Given the description of an element on the screen output the (x, y) to click on. 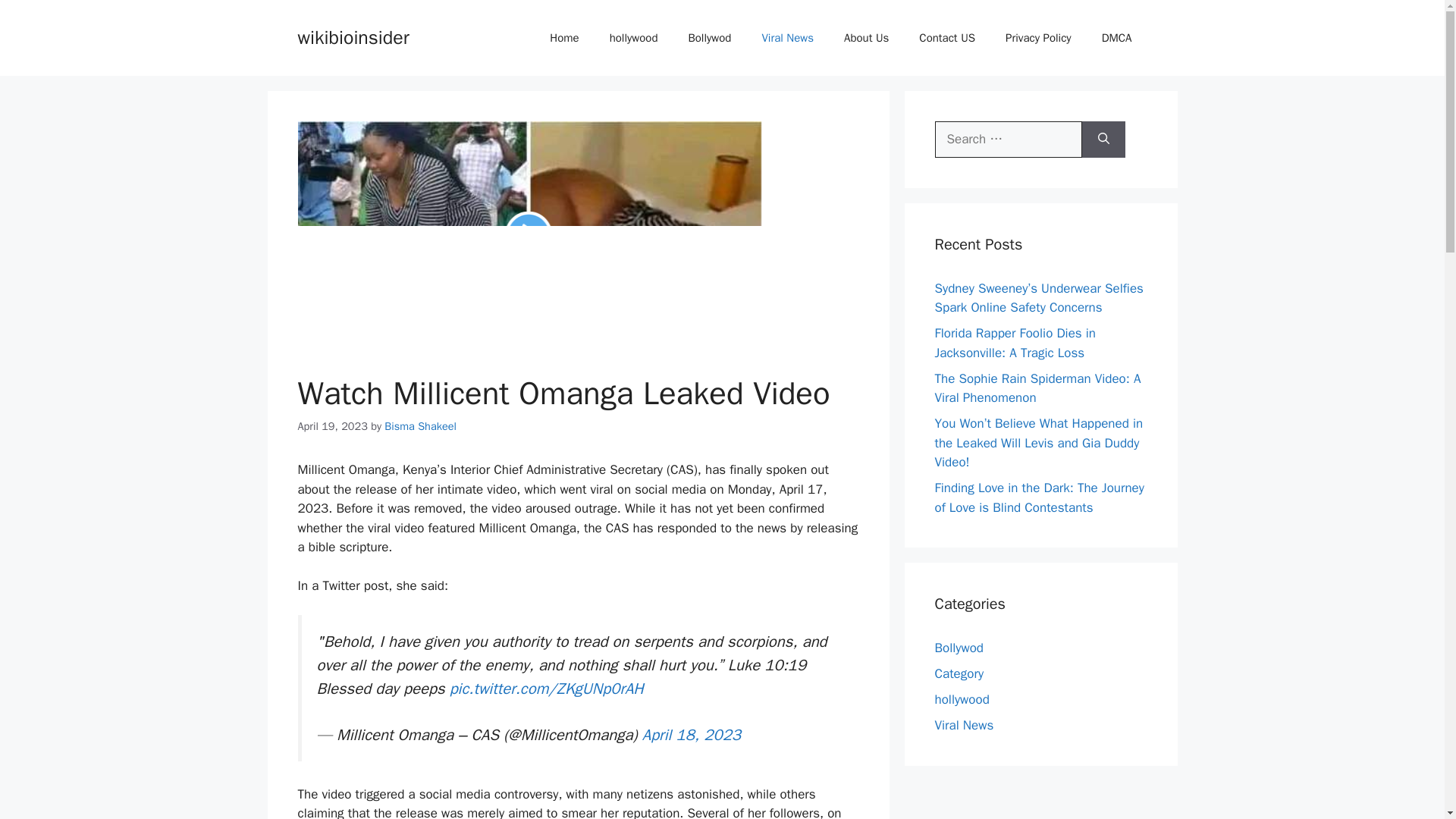
April 18, 2023 (691, 734)
Privacy Policy (1038, 37)
wikibioinsider (353, 37)
Contact US (947, 37)
hollywood (961, 699)
Home (564, 37)
DMCA (1116, 37)
Search for: (1007, 139)
Viral News (786, 37)
